Given the description of an element on the screen output the (x, y) to click on. 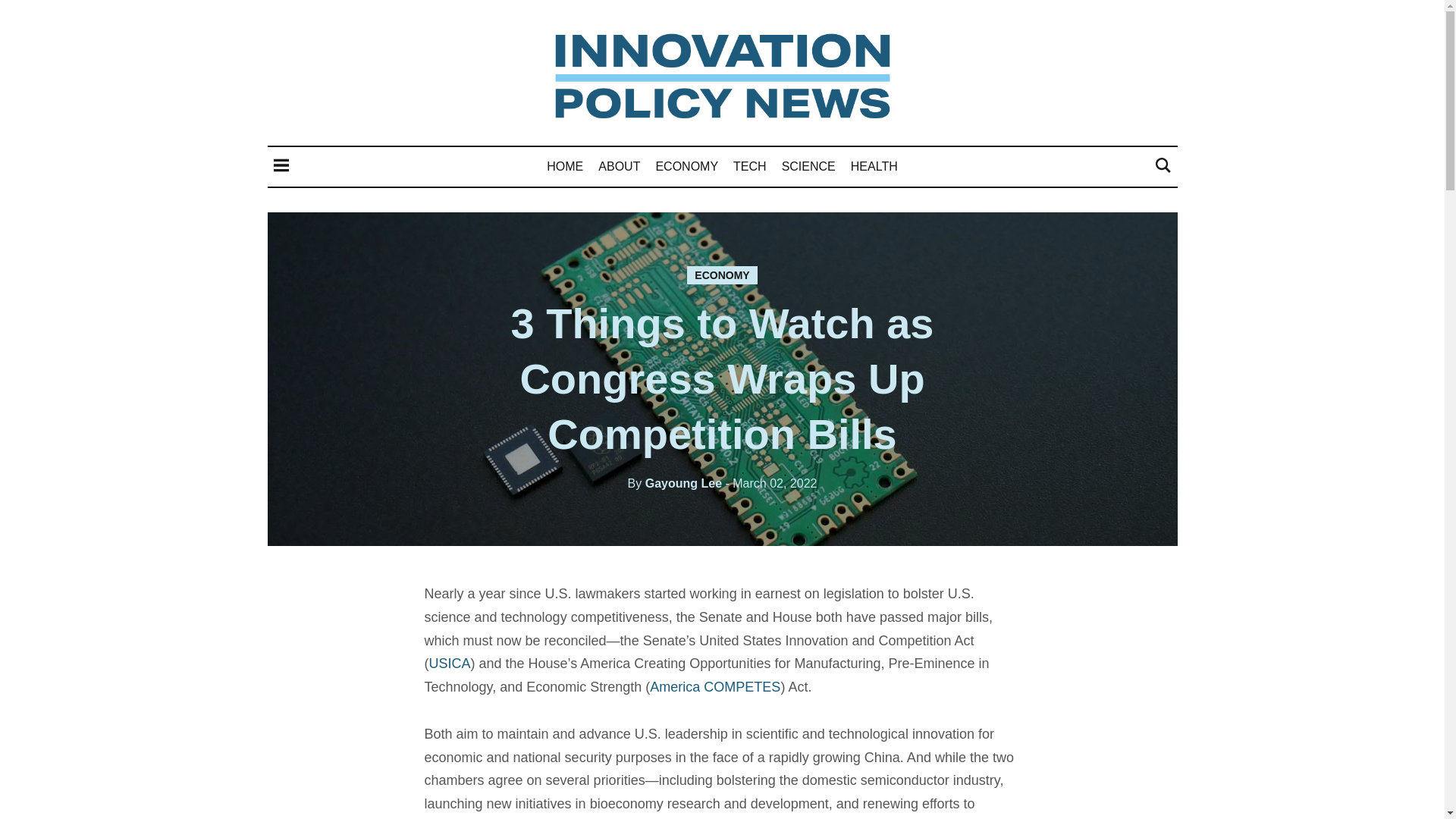
America COMPETES (714, 686)
TECH (750, 165)
HOME (565, 165)
ABOUT (619, 165)
By Gayoung Lee (674, 481)
HEALTH (874, 165)
ECONOMY (686, 165)
ECONOMY (722, 275)
SCIENCE (808, 165)
USICA (449, 663)
02 March, 2022 (770, 481)
